Given the description of an element on the screen output the (x, y) to click on. 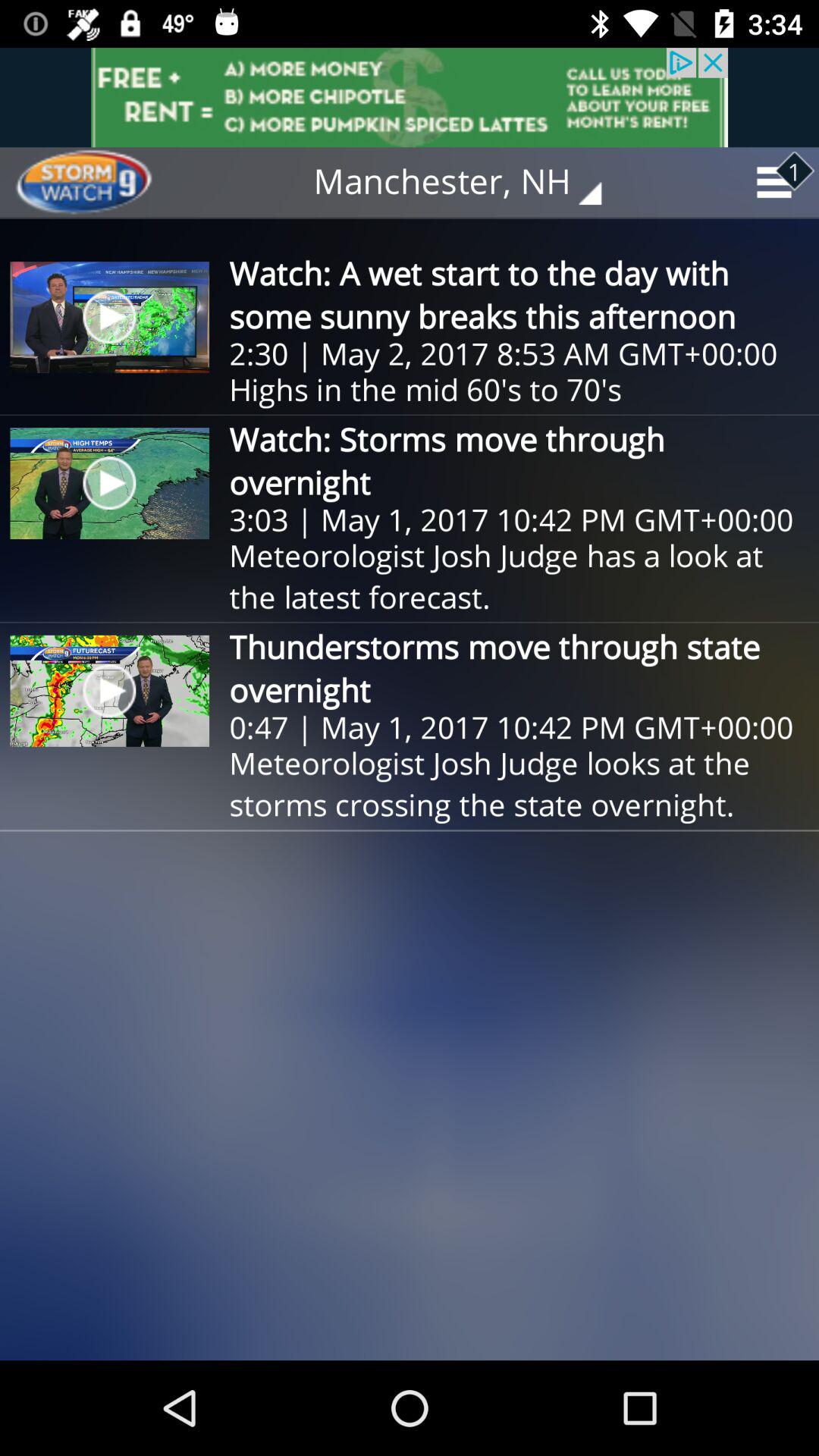
choose icon to the left of the manchester, nh item (99, 182)
